Given the description of an element on the screen output the (x, y) to click on. 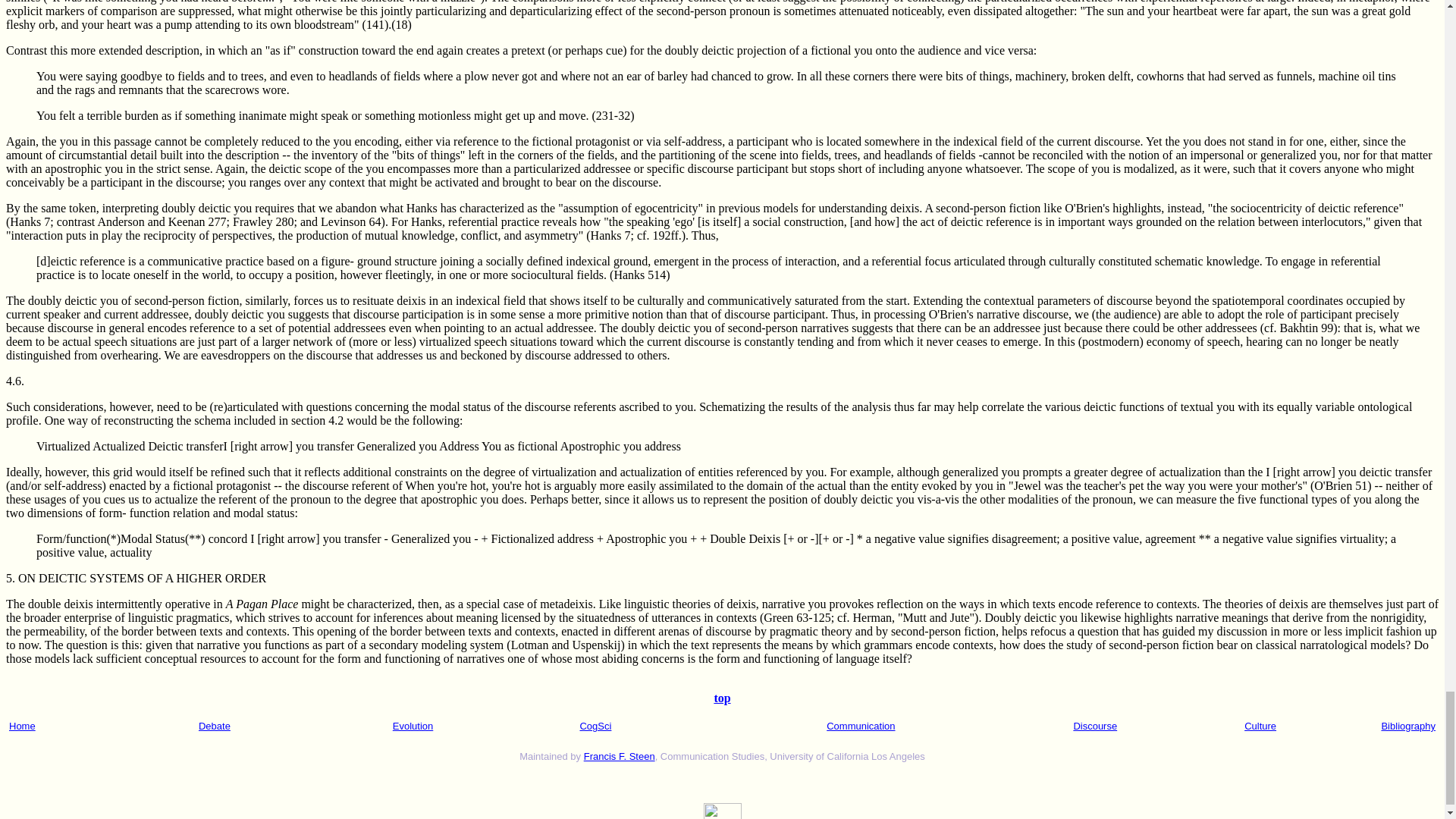
Evolution (412, 726)
Home (21, 726)
CogSci (595, 726)
Communication (861, 726)
Francis F. Steen (619, 756)
Bibliography (1407, 726)
Debate (214, 726)
Culture (1260, 726)
Discourse (1094, 726)
top (721, 697)
